Given the description of an element on the screen output the (x, y) to click on. 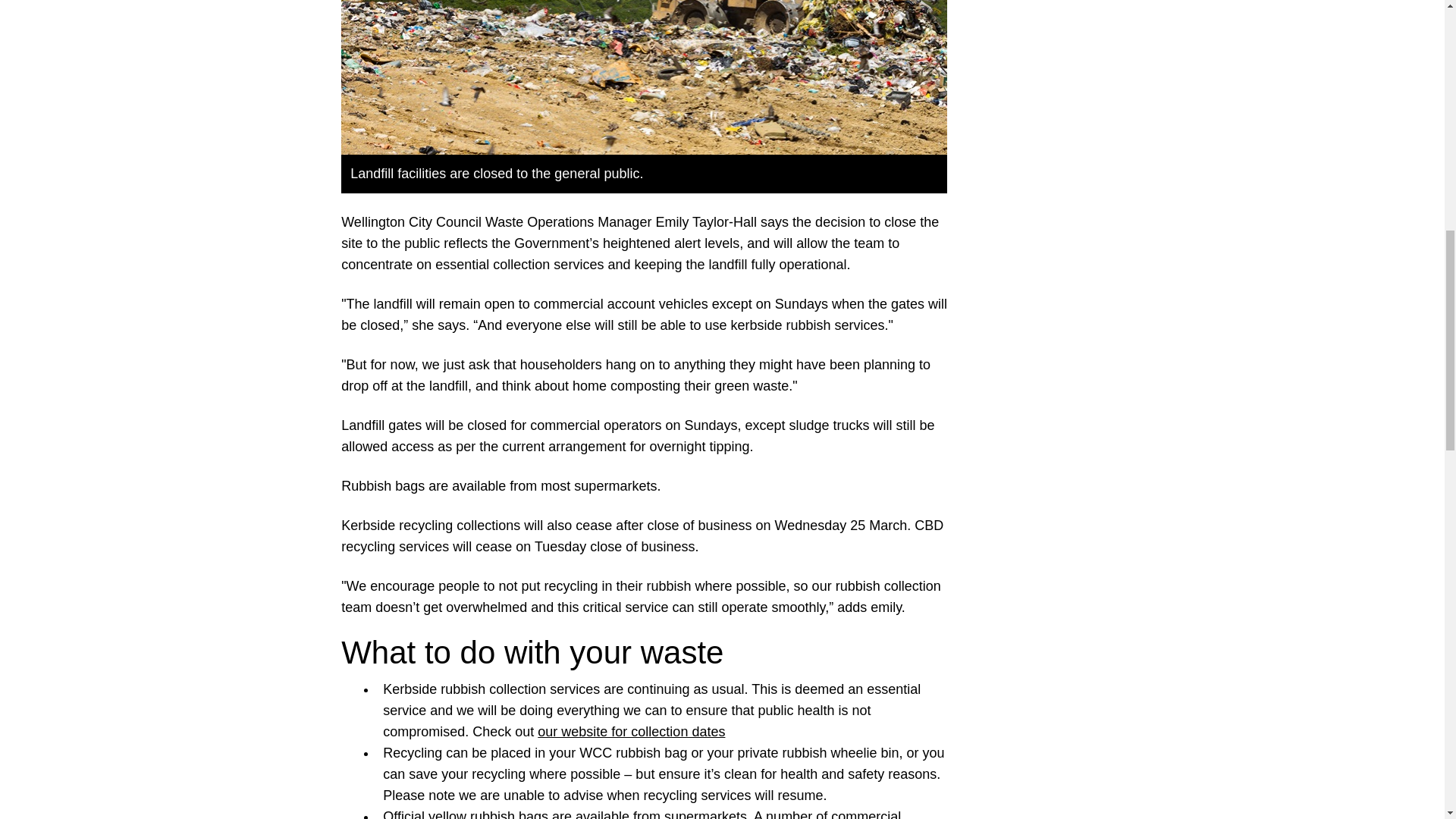
our website for collection dates (631, 731)
